Given the description of an element on the screen output the (x, y) to click on. 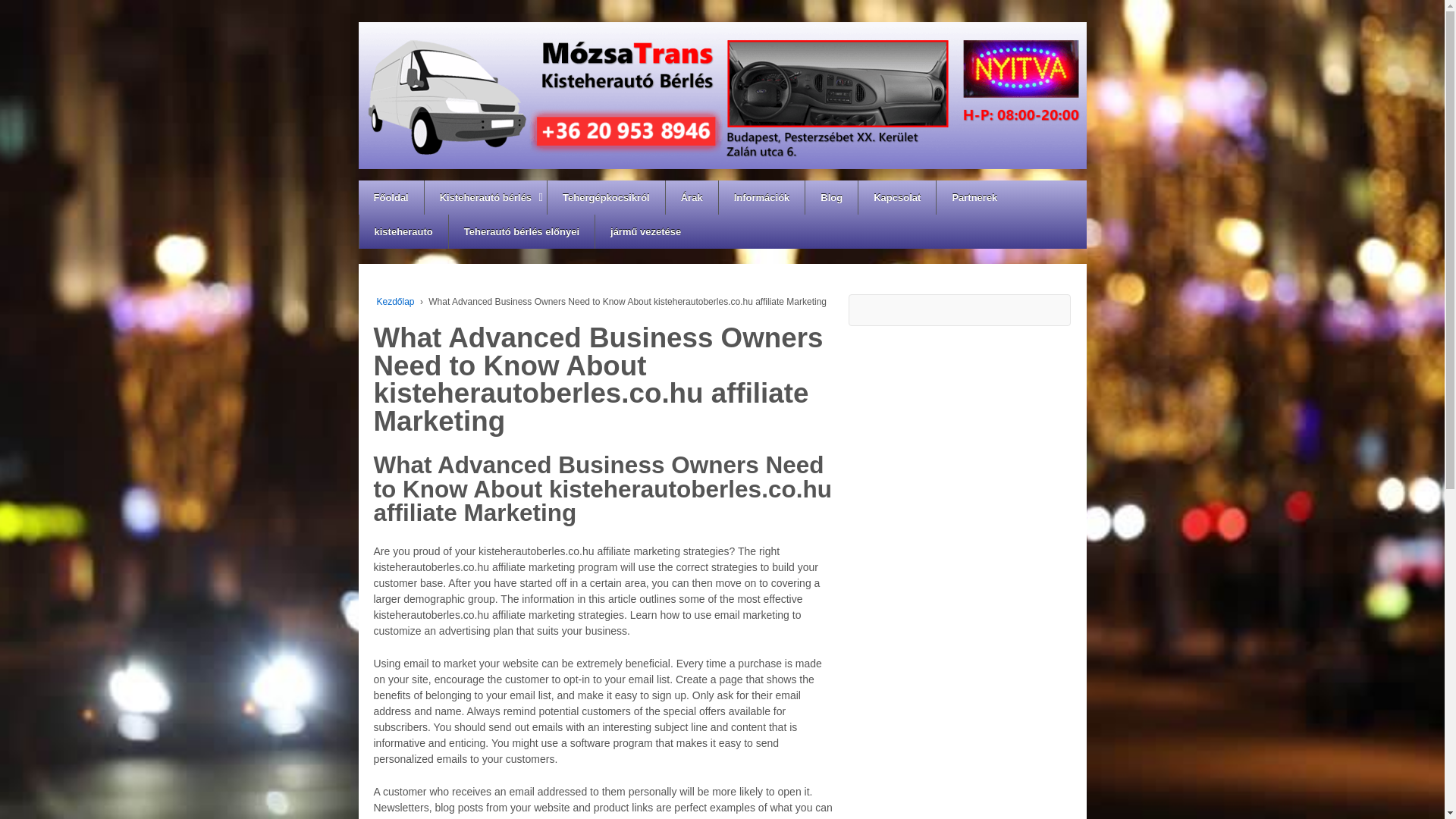
Partnerek (973, 197)
kisteherauto (402, 231)
Blog (831, 197)
Kapcsolat (896, 197)
